Given the description of an element on the screen output the (x, y) to click on. 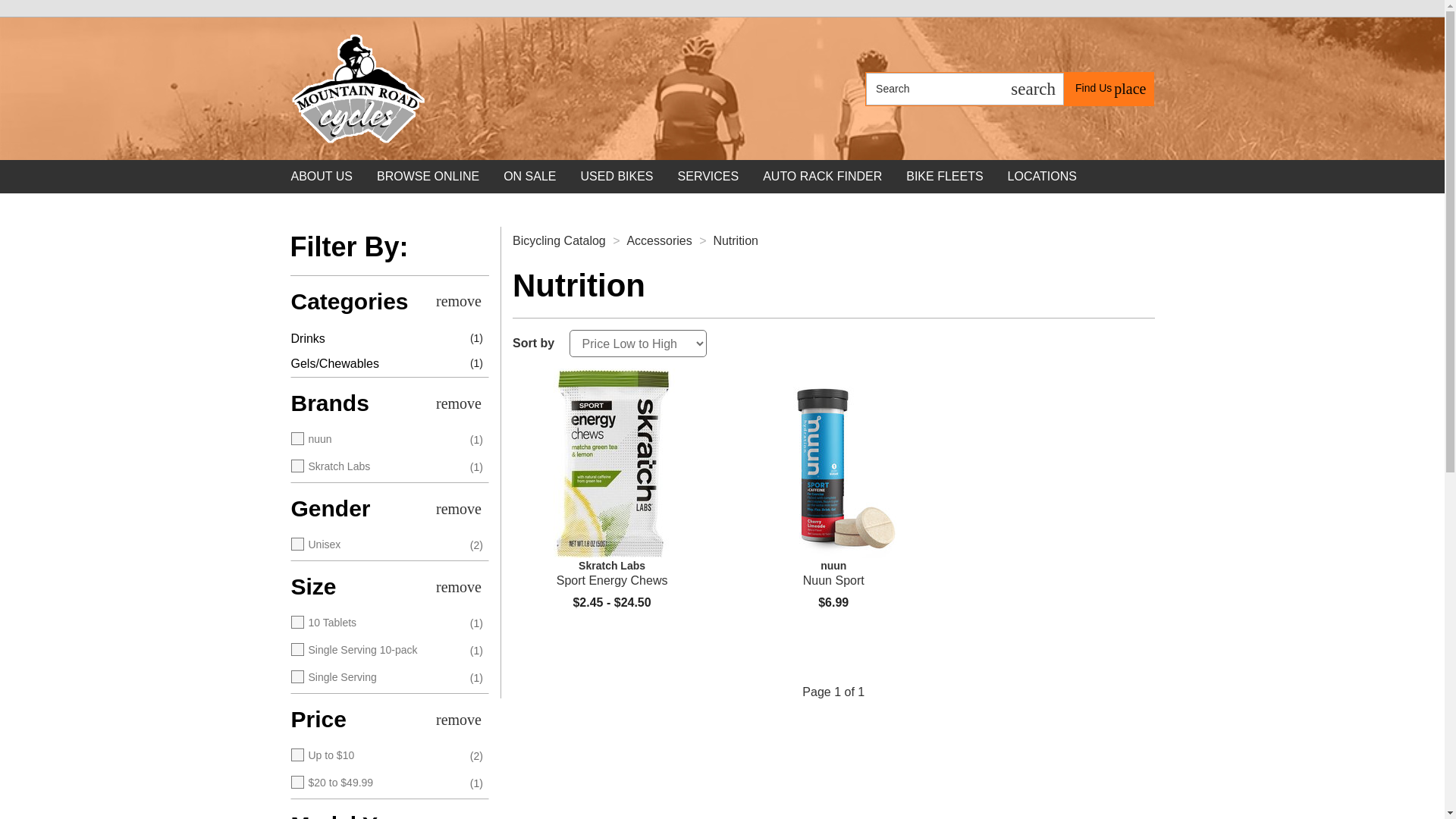
Search (1032, 88)
Mountain Road Cycles Home Page (357, 87)
nuun Nuun Sport (833, 572)
ABOUT US (321, 176)
Skratch Labs Sport Energy Chews (611, 572)
Stores (1110, 88)
Search (1110, 88)
Drinks (934, 88)
nuun Nuun Sport (374, 339)
